Given the description of an element on the screen output the (x, y) to click on. 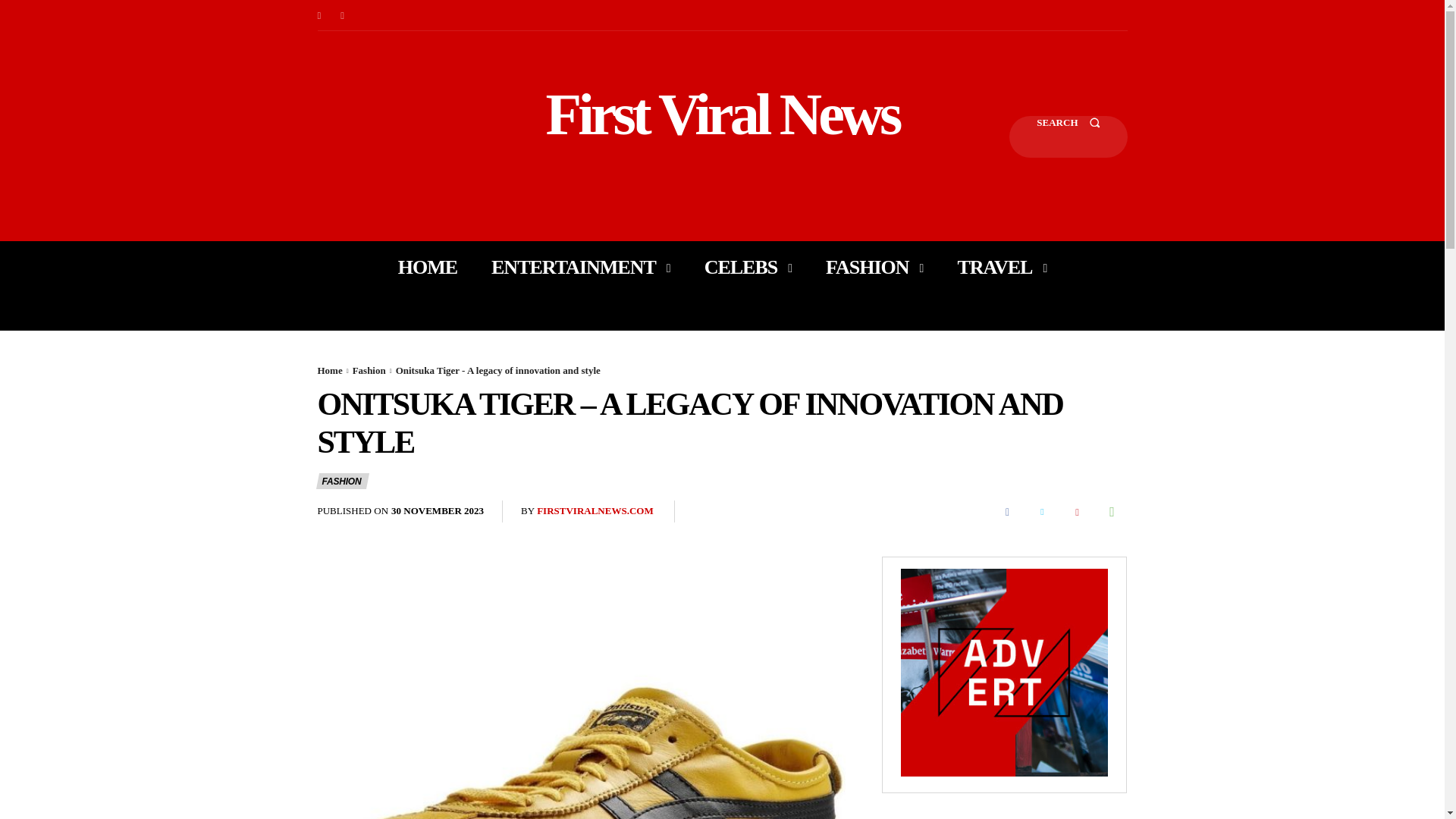
Fashion (368, 369)
Twitter (1041, 511)
ENTERTAINMENT (580, 267)
Pinterest (1076, 511)
Instagram (342, 15)
FASHION (341, 480)
CELEBS (748, 267)
TRAVEL (1001, 267)
Facebook (1006, 511)
Facebook (318, 15)
FASHION (874, 267)
HOME (427, 267)
SEARCH (1067, 137)
WhatsApp (1111, 511)
